Given the description of an element on the screen output the (x, y) to click on. 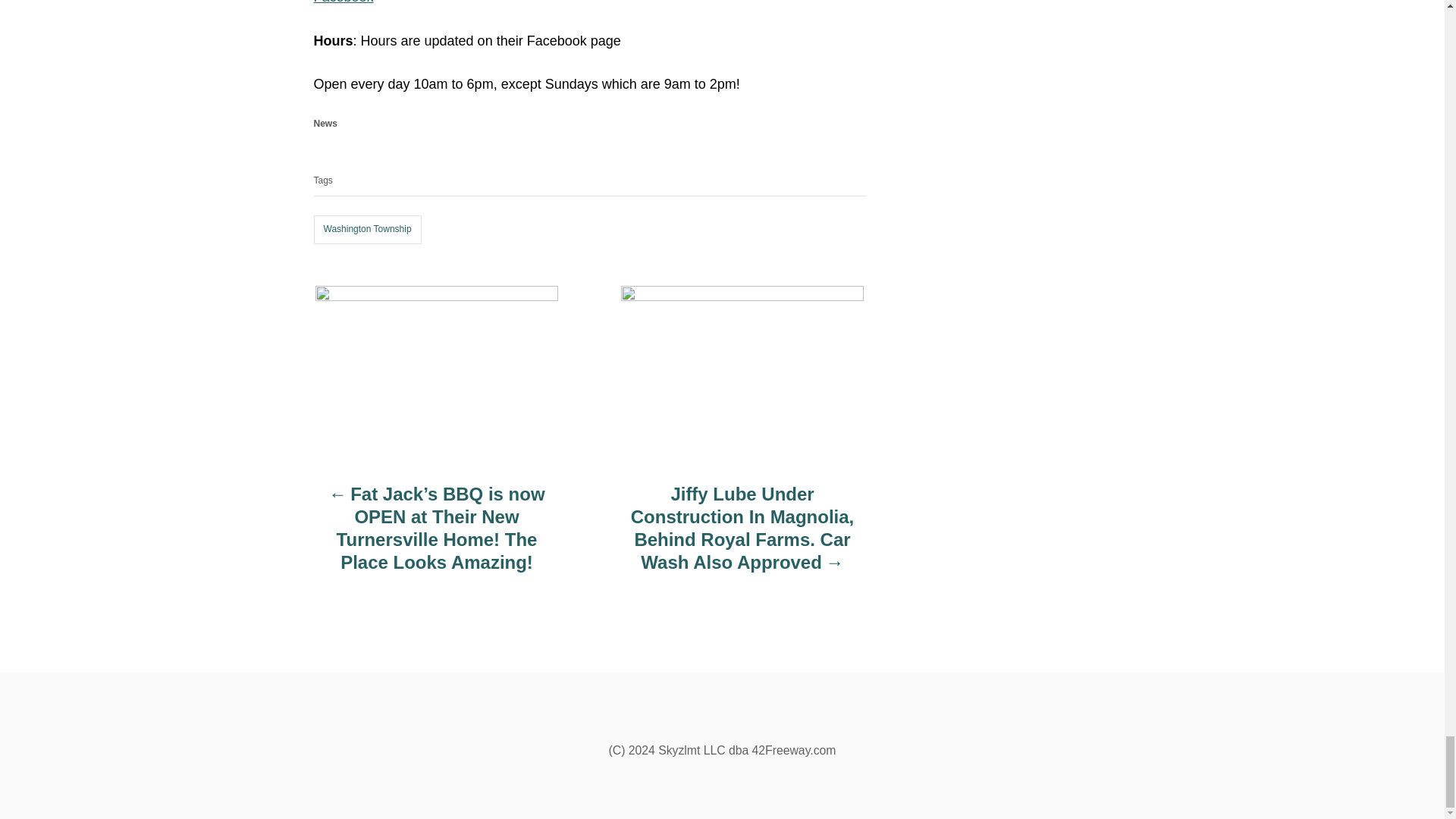
Facebook (344, 2)
News (325, 122)
Washington Township (368, 229)
